Given the description of an element on the screen output the (x, y) to click on. 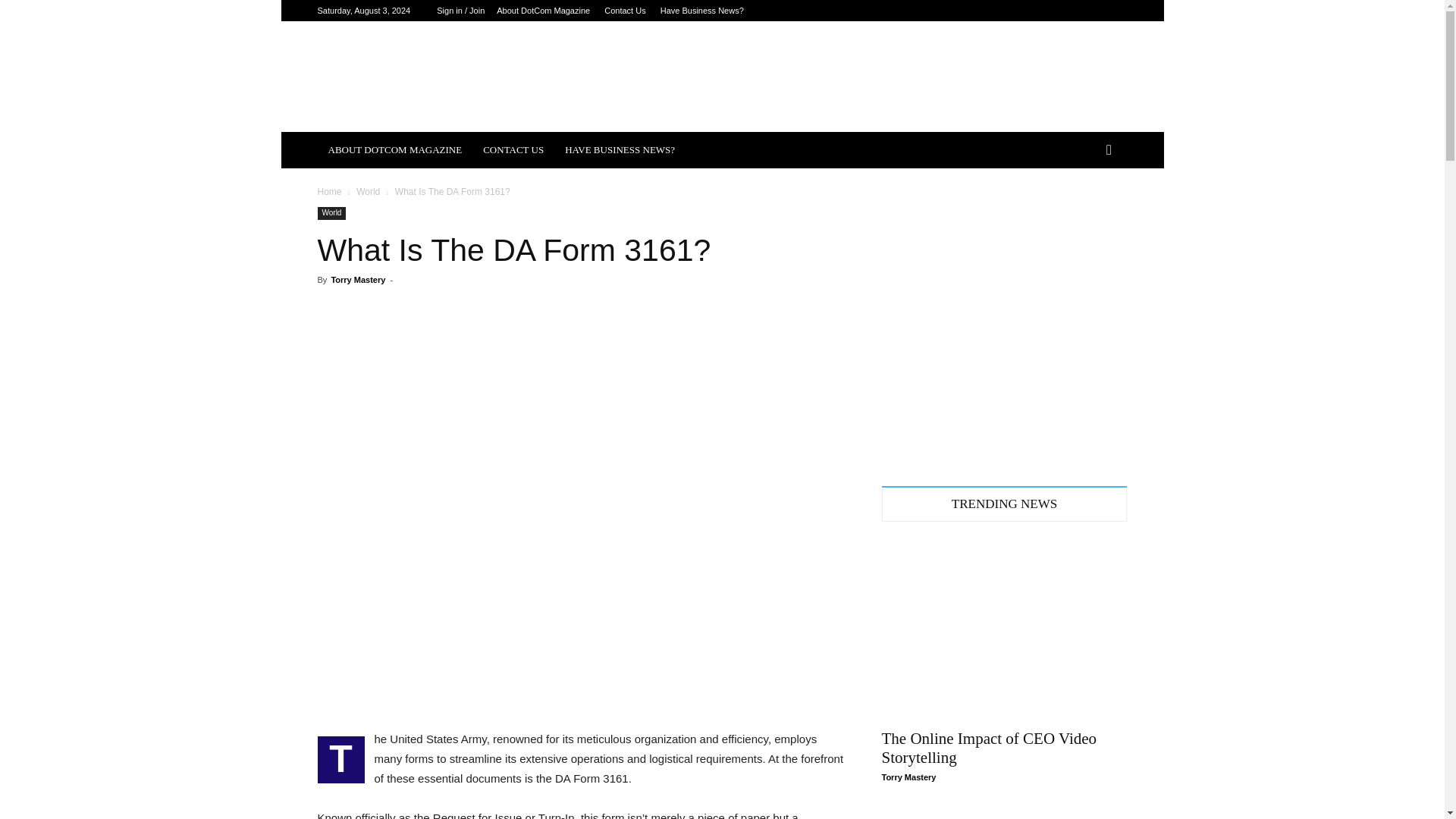
Contact Us (624, 10)
HAVE BUSINESS NEWS? (619, 149)
About DotCom Magazine (542, 10)
Home (328, 191)
Have Business News? (702, 10)
Search (1085, 210)
World (331, 213)
Torry Mastery (357, 279)
CONTACT US (512, 149)
World (368, 191)
View all posts in World (368, 191)
ABOUT DOTCOM MAGAZINE (394, 149)
